Given the description of an element on the screen output the (x, y) to click on. 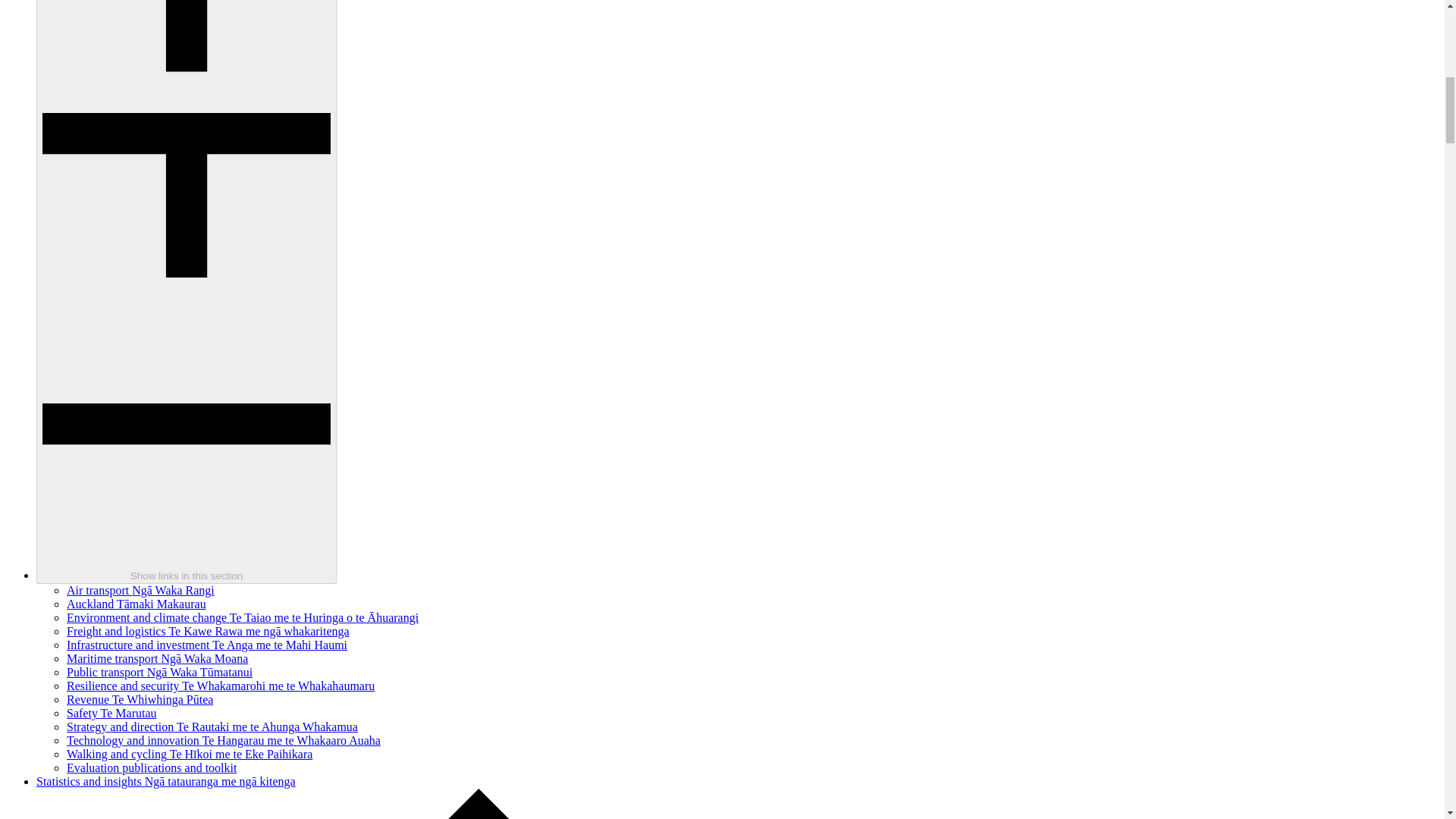
Resilience and security Te Whakamarohi me te Whakahaumaru (220, 685)
Technology and innovation Te Hangarau me te Whakaaro Auaha (223, 739)
Infrastructure and investment Te Anga me te Mahi Haumi (206, 644)
Evaluation publications and toolkit (150, 767)
Strategy and direction Te Rautaki me te Ahunga Whakamua (212, 726)
Safety Te Marutau (111, 712)
